Given the description of an element on the screen output the (x, y) to click on. 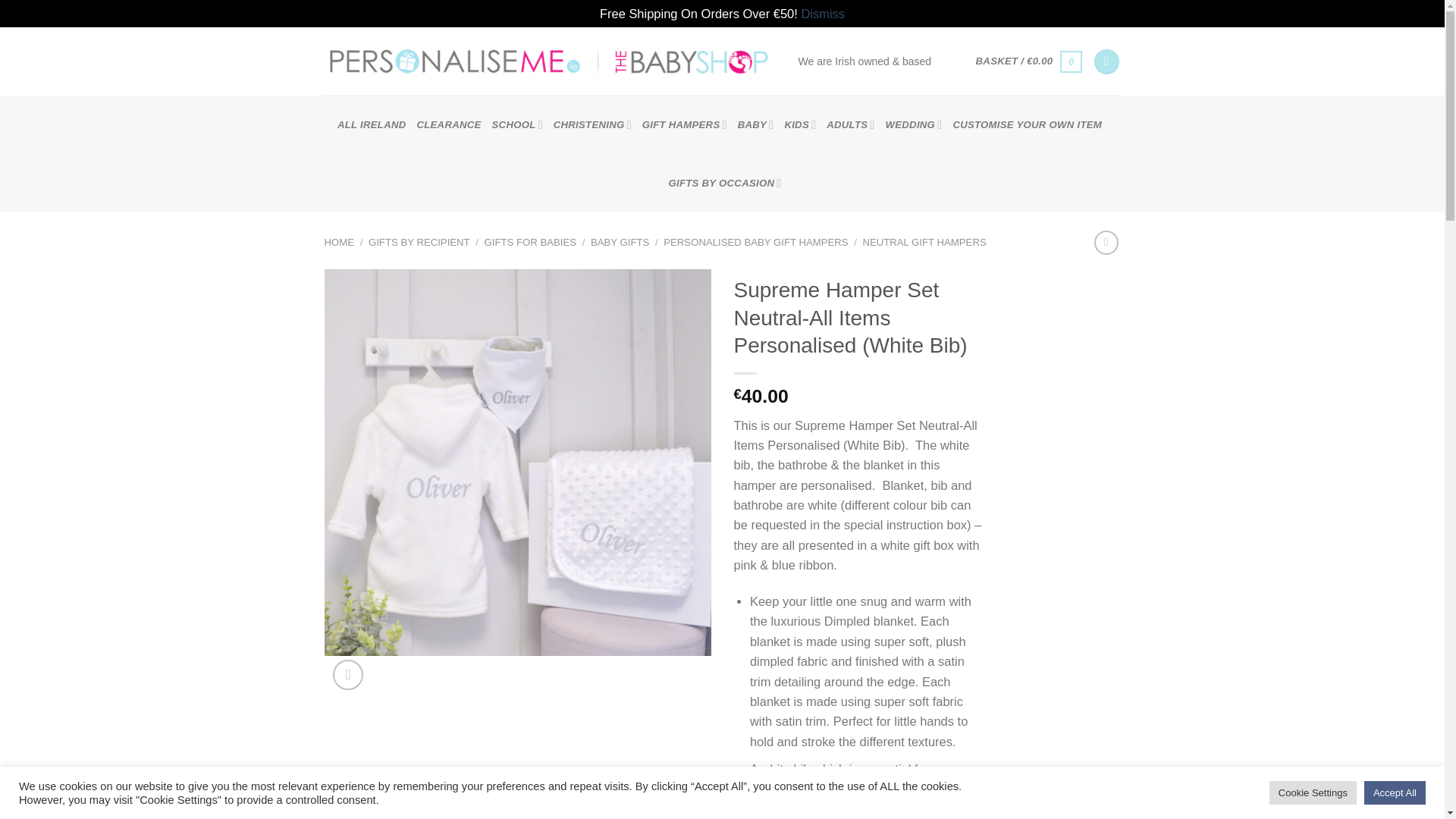
Basket (1029, 61)
Dismiss (822, 13)
CLEARANCE (448, 124)
CHRISTENING (592, 124)
Zoom (347, 675)
ALL IRELAND (371, 124)
GIFT HAMPERS (684, 124)
